Given the description of an element on the screen output the (x, y) to click on. 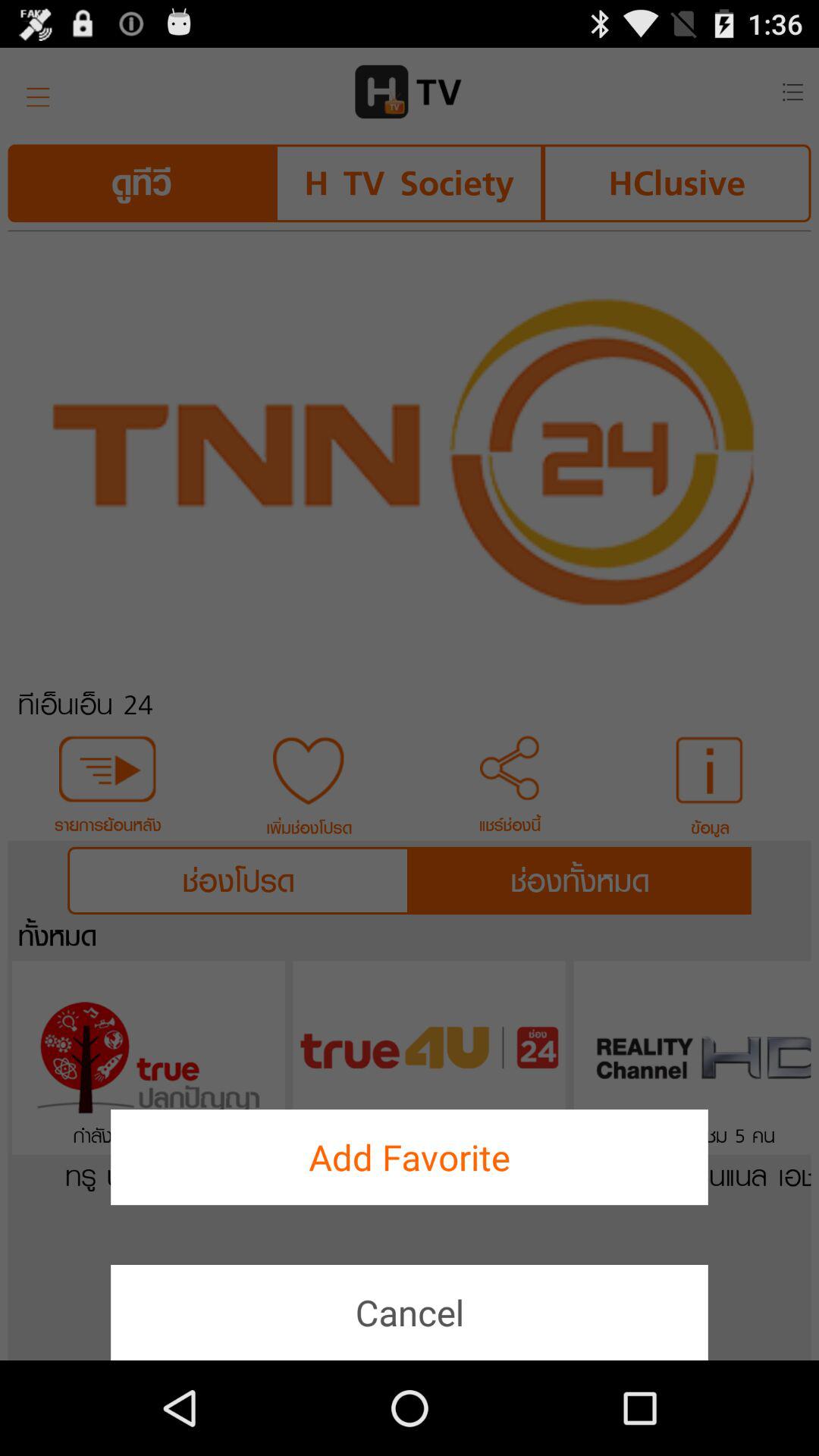
jump until the cancel button (409, 1312)
